Given the description of an element on the screen output the (x, y) to click on. 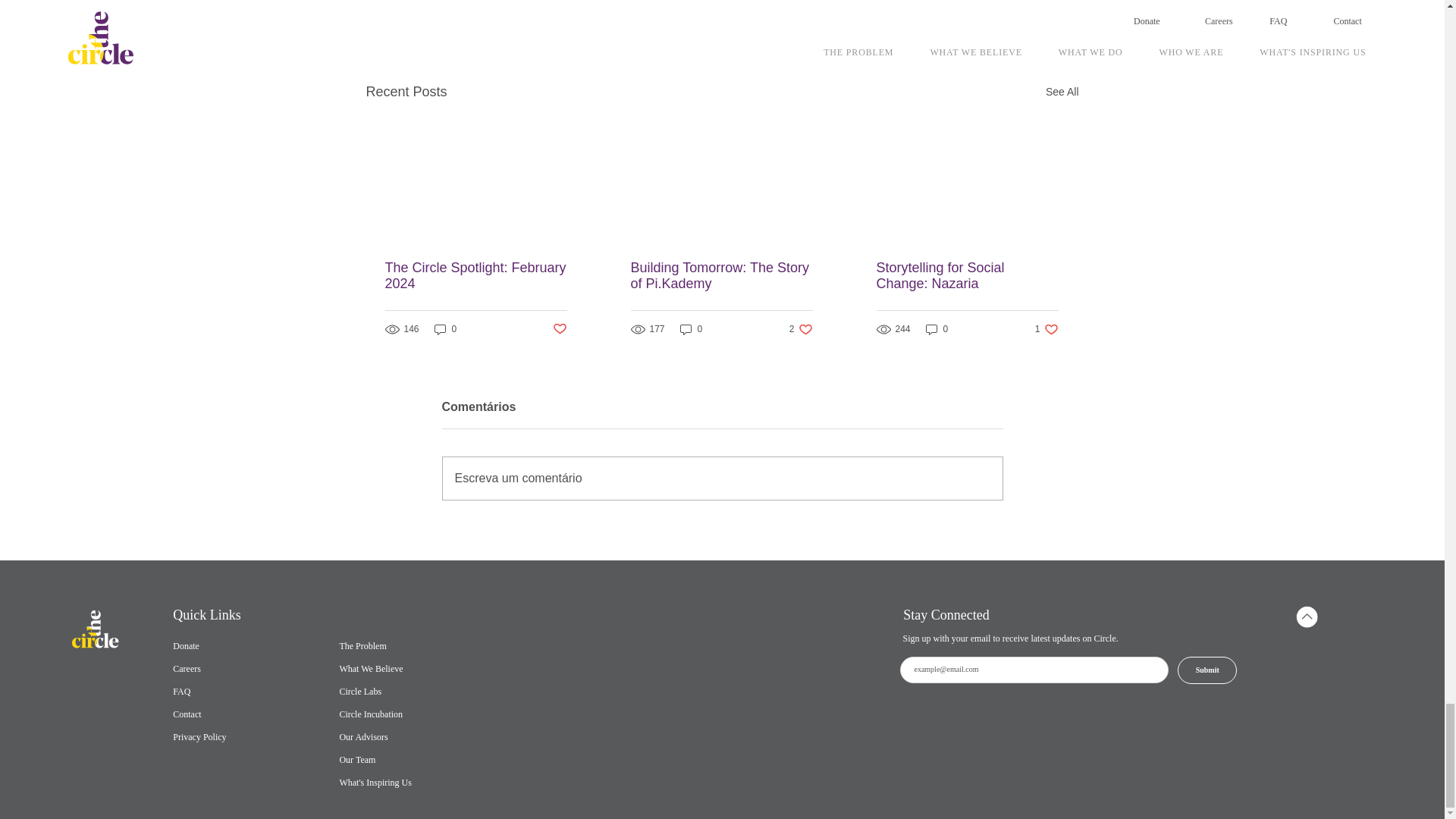
Post not marked as liked (558, 329)
The Circle Spotlight: February 2024 (476, 275)
0 (445, 329)
0 (691, 329)
See All (1061, 92)
0 (937, 329)
Storytelling for Social Change: Nazaria (967, 275)
Building Tomorrow: The Story of Pi.Kademy (800, 329)
